Given the description of an element on the screen output the (x, y) to click on. 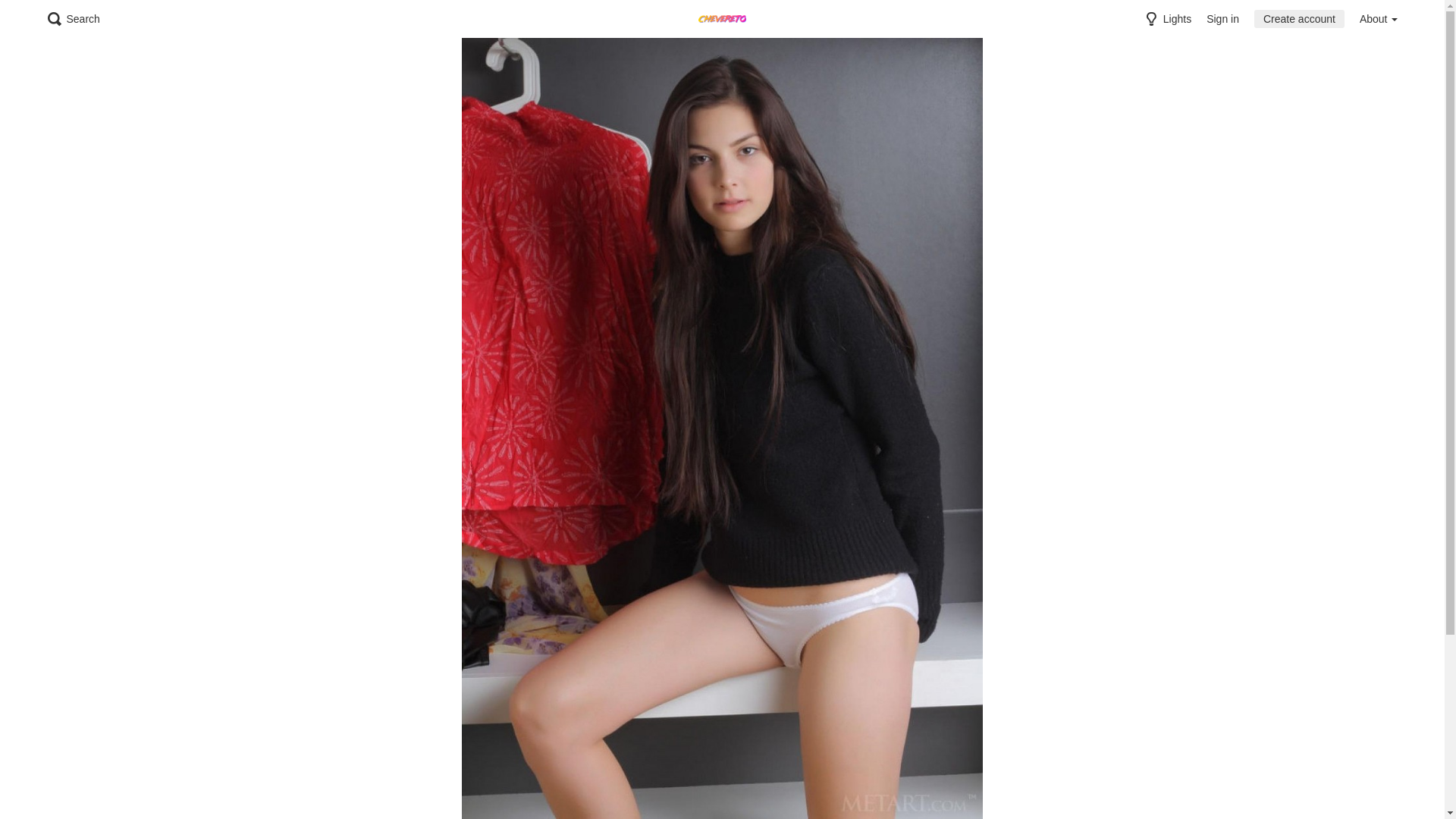
Create account Element type: text (1299, 18)
Sign in Element type: text (1222, 18)
